Given the description of an element on the screen output the (x, y) to click on. 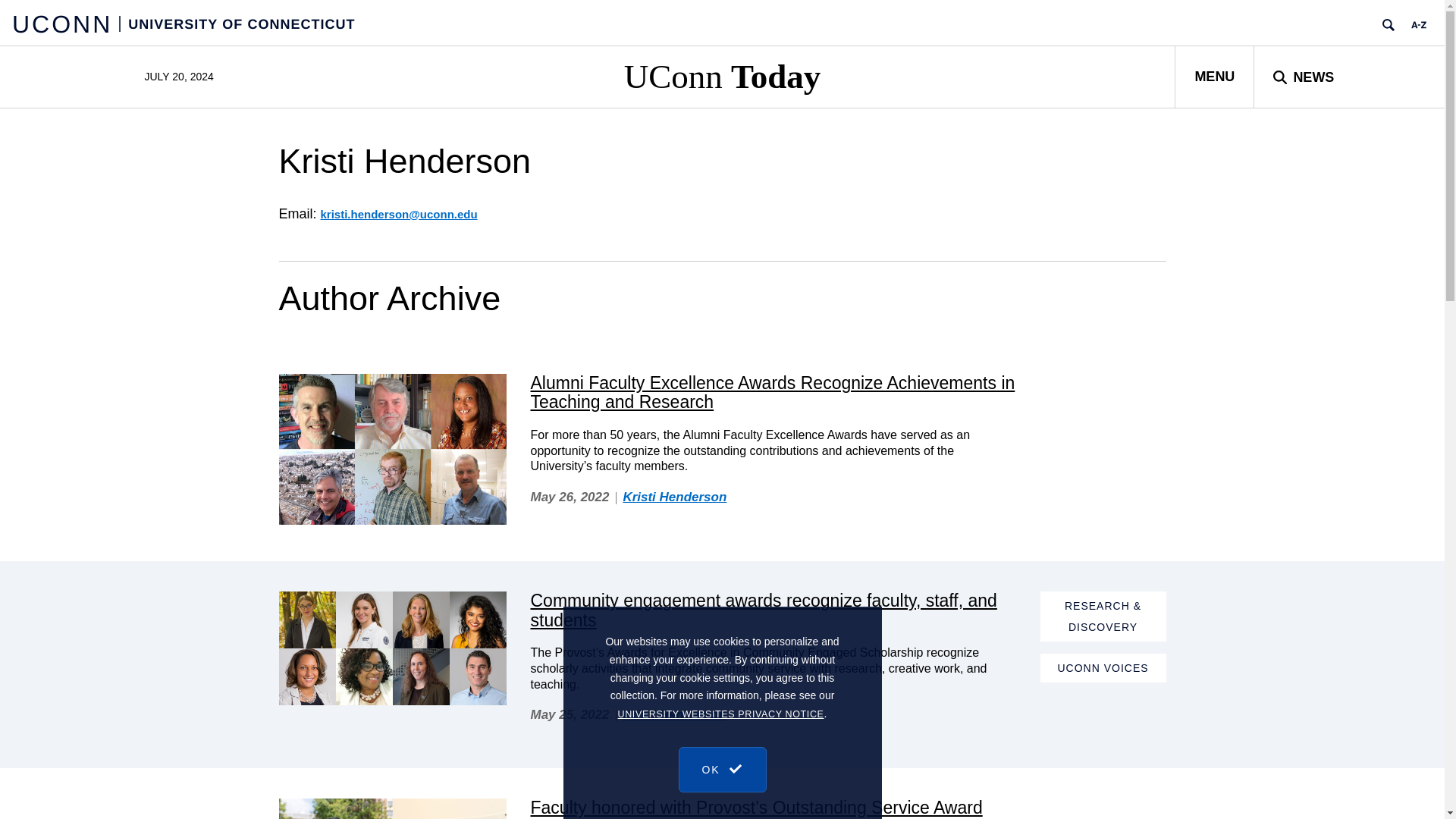
MENU (1213, 76)
UCONN UNIVERSITY OF CONNECTICUT (183, 22)
Search UConn (1387, 24)
Kristi Henderson (674, 714)
NEWS (1302, 76)
UConn A to Z Search (1418, 24)
UConn Today (722, 75)
Search UConn Today News (1302, 76)
UCONN VOICES (1103, 667)
Kristi Henderson (674, 496)
Open Menu (1213, 76)
